Given the description of an element on the screen output the (x, y) to click on. 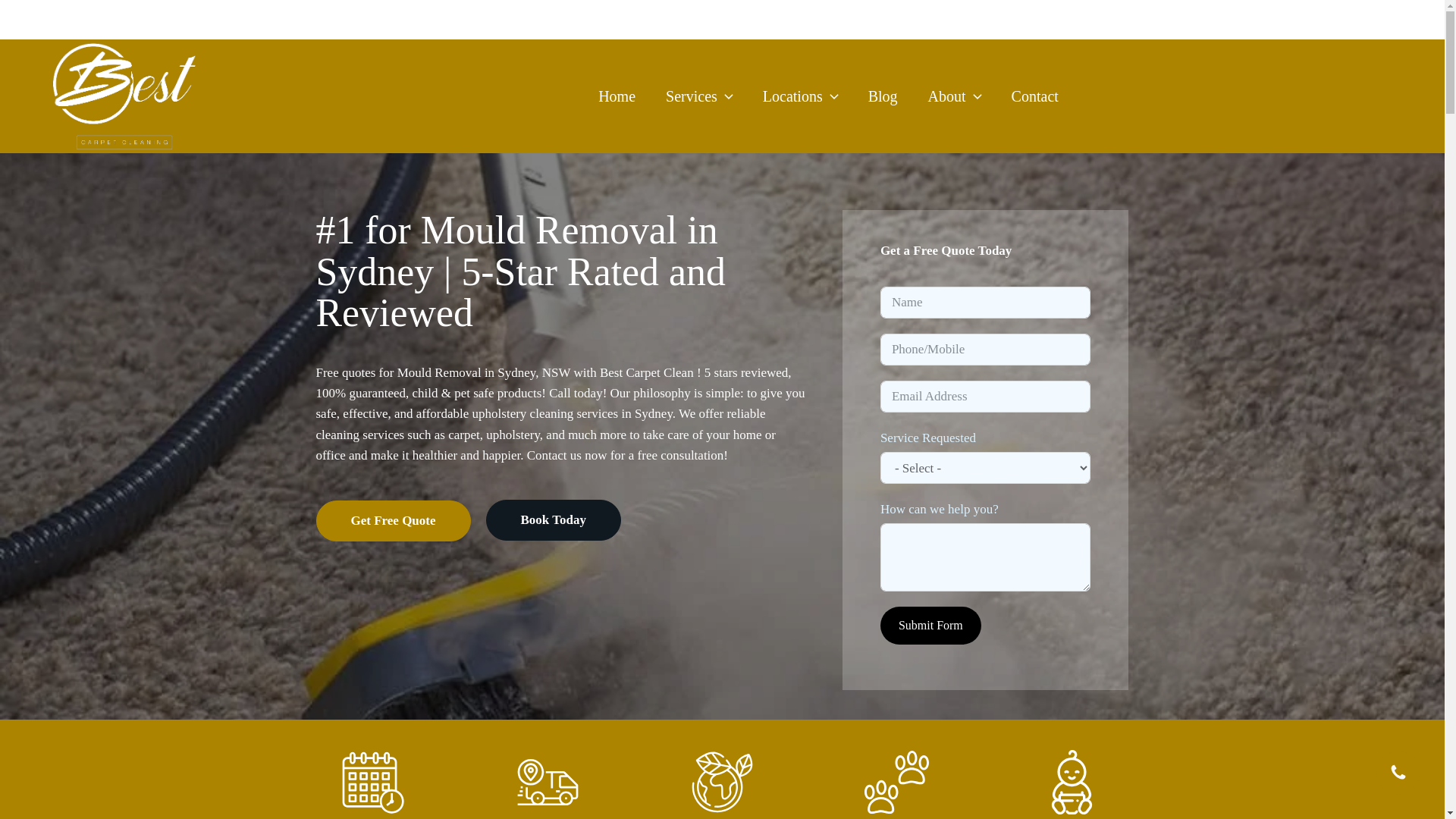
Home (616, 96)
Services (699, 96)
Locations (800, 96)
